Given the description of an element on the screen output the (x, y) to click on. 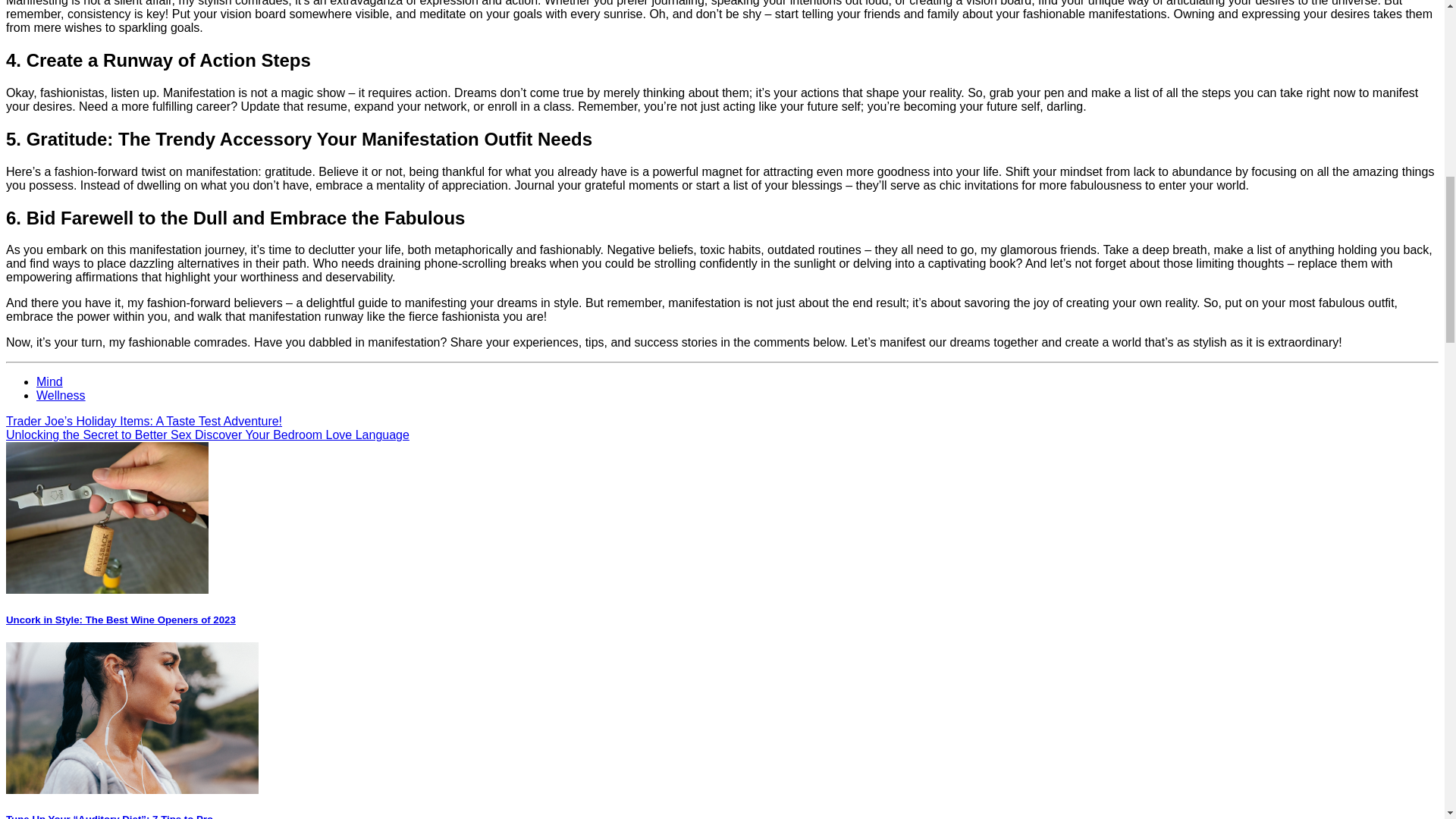
Mind (49, 381)
Wellness (60, 395)
Uncork in Style: The Best Wine Openers of 2023 (120, 619)
